Given the description of an element on the screen output the (x, y) to click on. 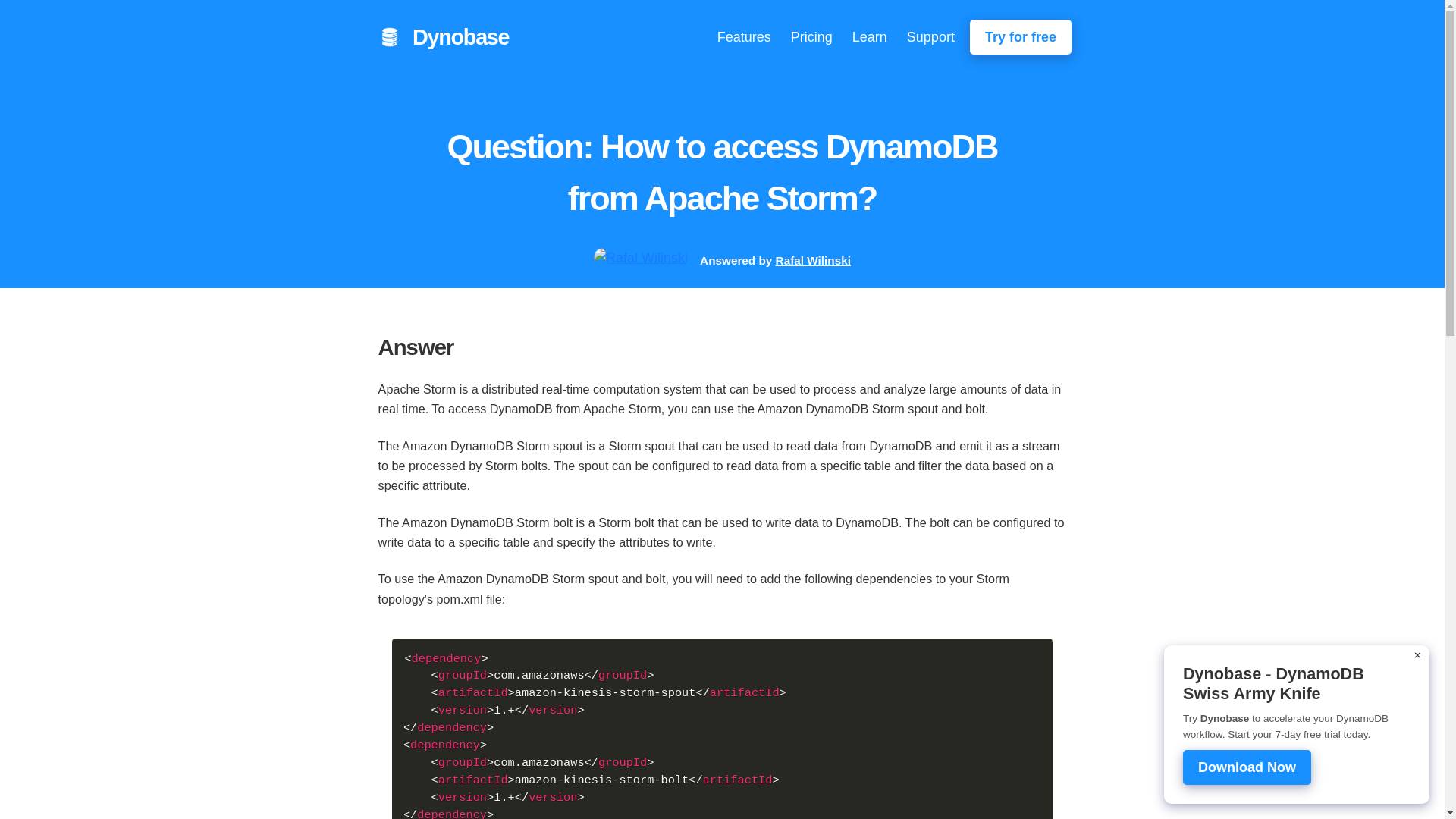
Learn (868, 37)
Try for free (1020, 36)
Support (931, 37)
Try for free (1021, 36)
Pricing (811, 37)
Features (744, 37)
Dynobase (457, 37)
Rafal Wilinski (813, 259)
